Given the description of an element on the screen output the (x, y) to click on. 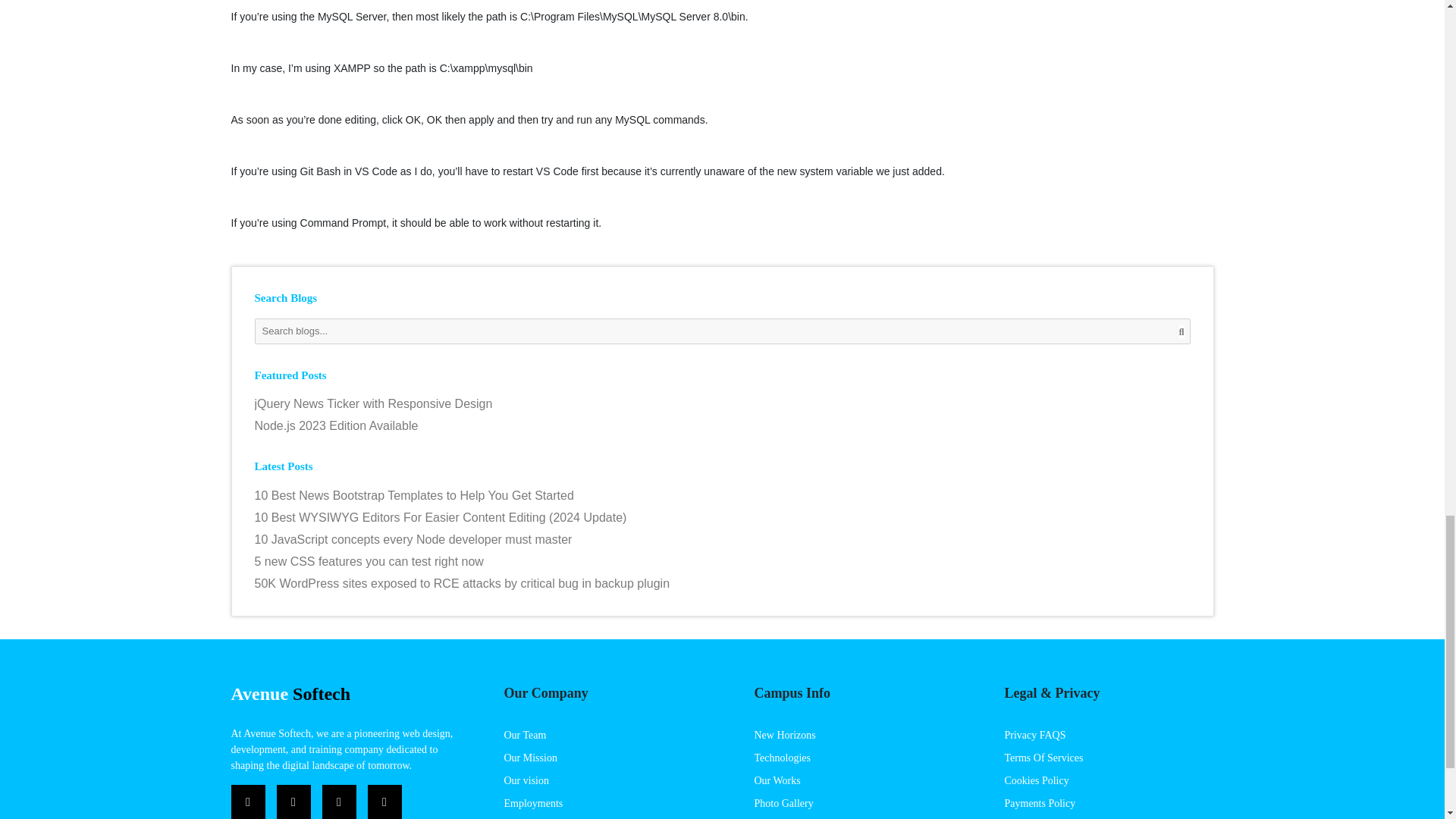
Our vision (525, 780)
Our Mission (529, 757)
Cookies Policy (1036, 780)
Photo Gallery (783, 803)
Terms Of Services (1043, 757)
Privacy FAQS (1034, 735)
10 JavaScript concepts every Node developer must master (722, 539)
Our Works (776, 780)
5 new CSS features you can test right now (722, 561)
AvenueSoftech (290, 693)
